Given the description of an element on the screen output the (x, y) to click on. 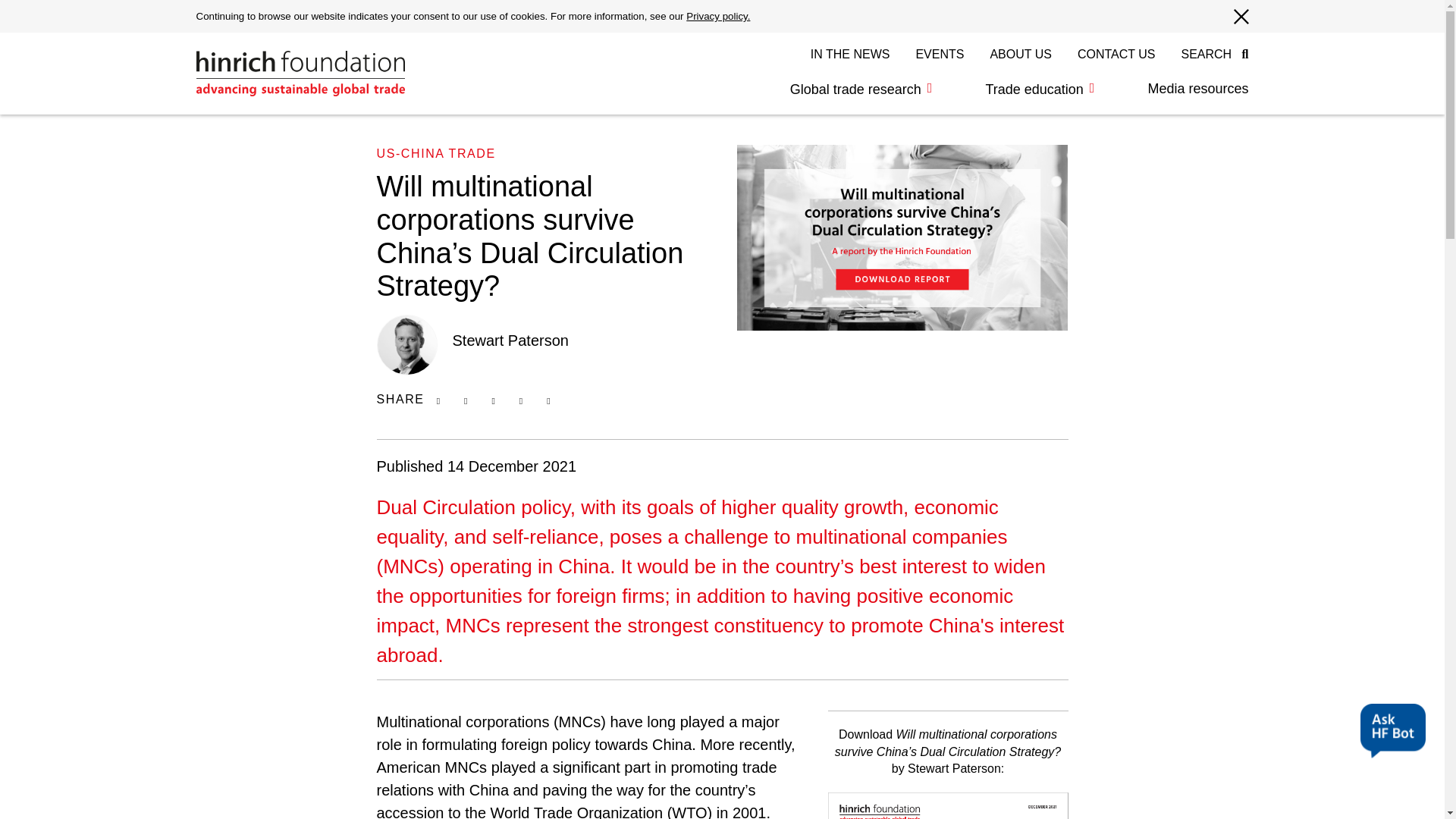
Privacy policy. (717, 16)
Trade education (1039, 89)
Media resources (1184, 88)
Privacy policy (717, 16)
Global trade research (860, 89)
